Given the description of an element on the screen output the (x, y) to click on. 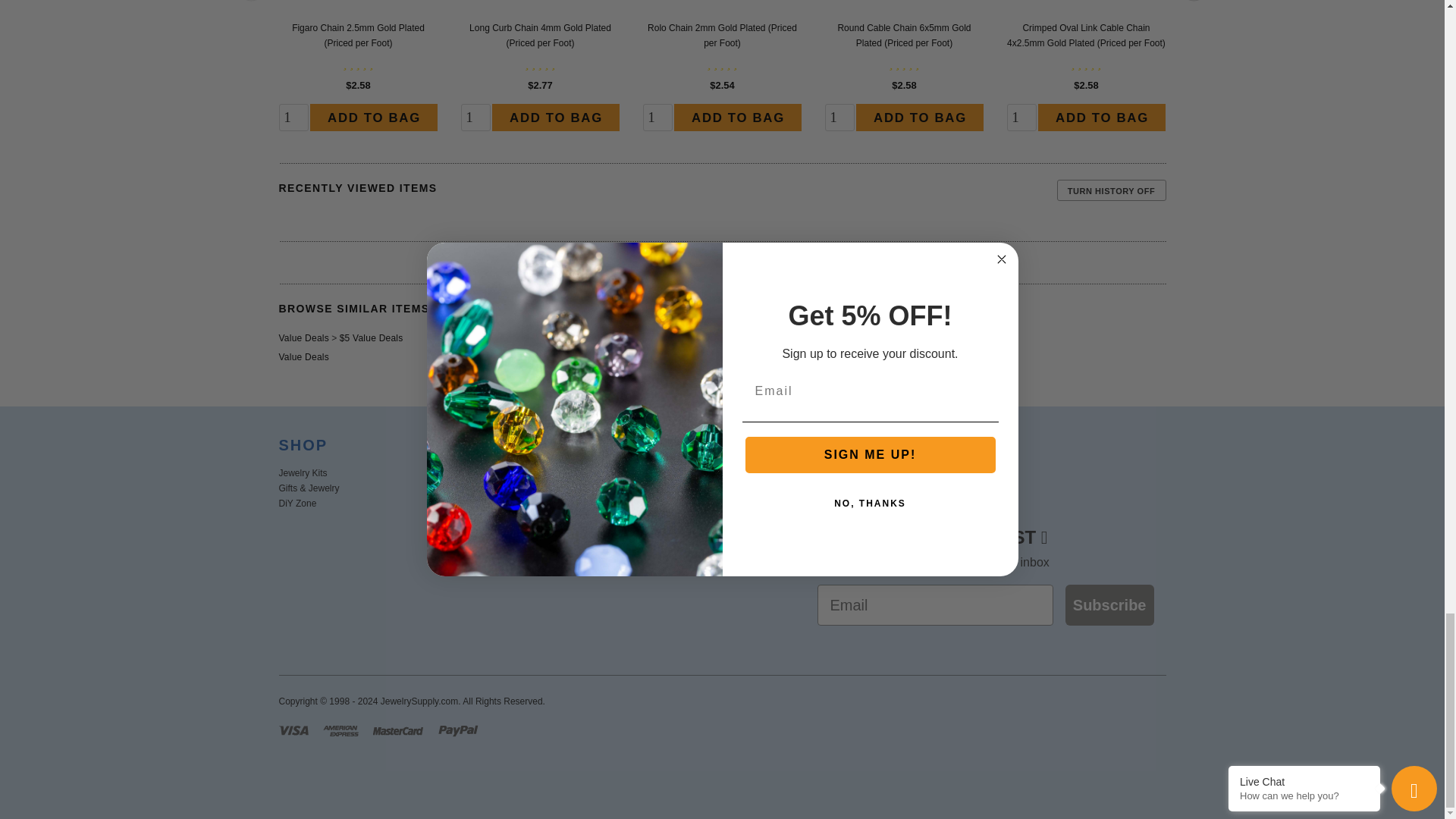
Like Us on Facebook (823, 483)
1 (476, 117)
Follow Us on Twitter (859, 483)
1 (657, 117)
1 (293, 117)
1 (840, 117)
